Given the description of an element on the screen output the (x, y) to click on. 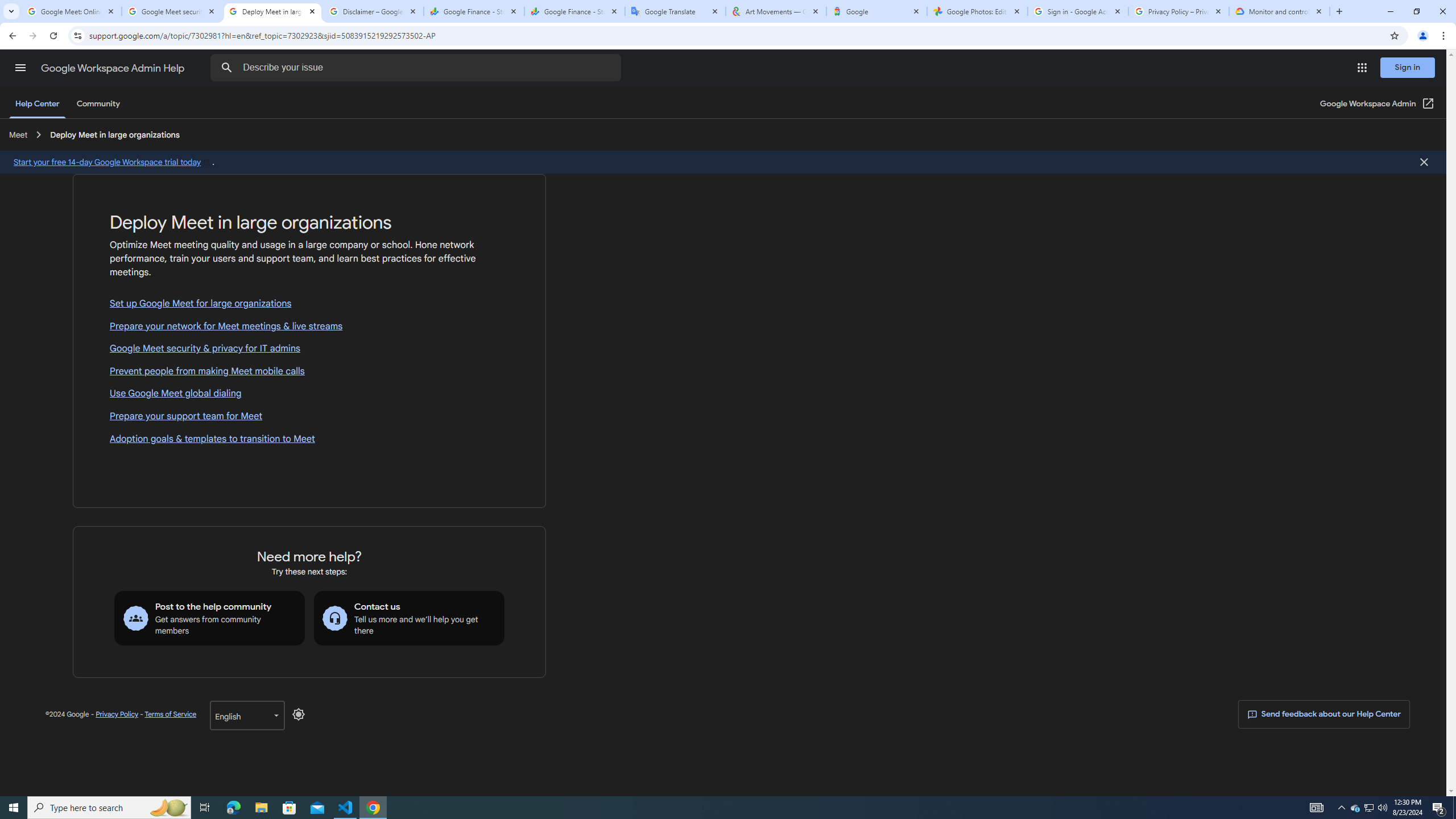
Prevent people from making Meet mobile calls (309, 371)
Prepare your support team for Meet (309, 416)
Google Meet security & privacy for IT admins (309, 349)
Google (876, 11)
Google Workspace Admin Help (113, 68)
Use Google Meet global dialing (309, 394)
Search Help Center (227, 67)
Community (97, 103)
